Given the description of an element on the screen output the (x, y) to click on. 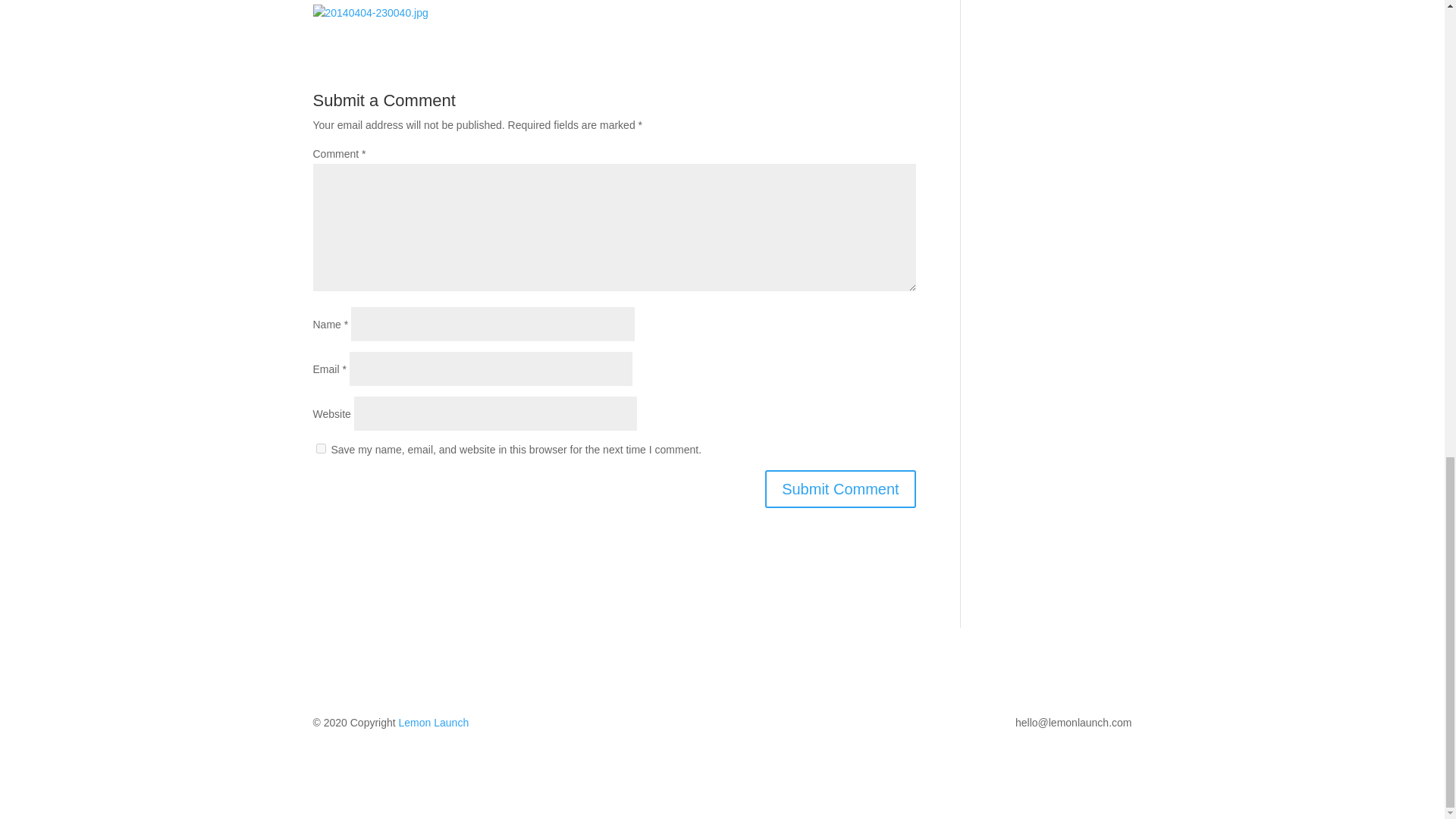
Lemon Launch (433, 722)
Submit Comment (840, 488)
Submit Comment (840, 488)
yes (319, 448)
